Given the description of an element on the screen output the (x, y) to click on. 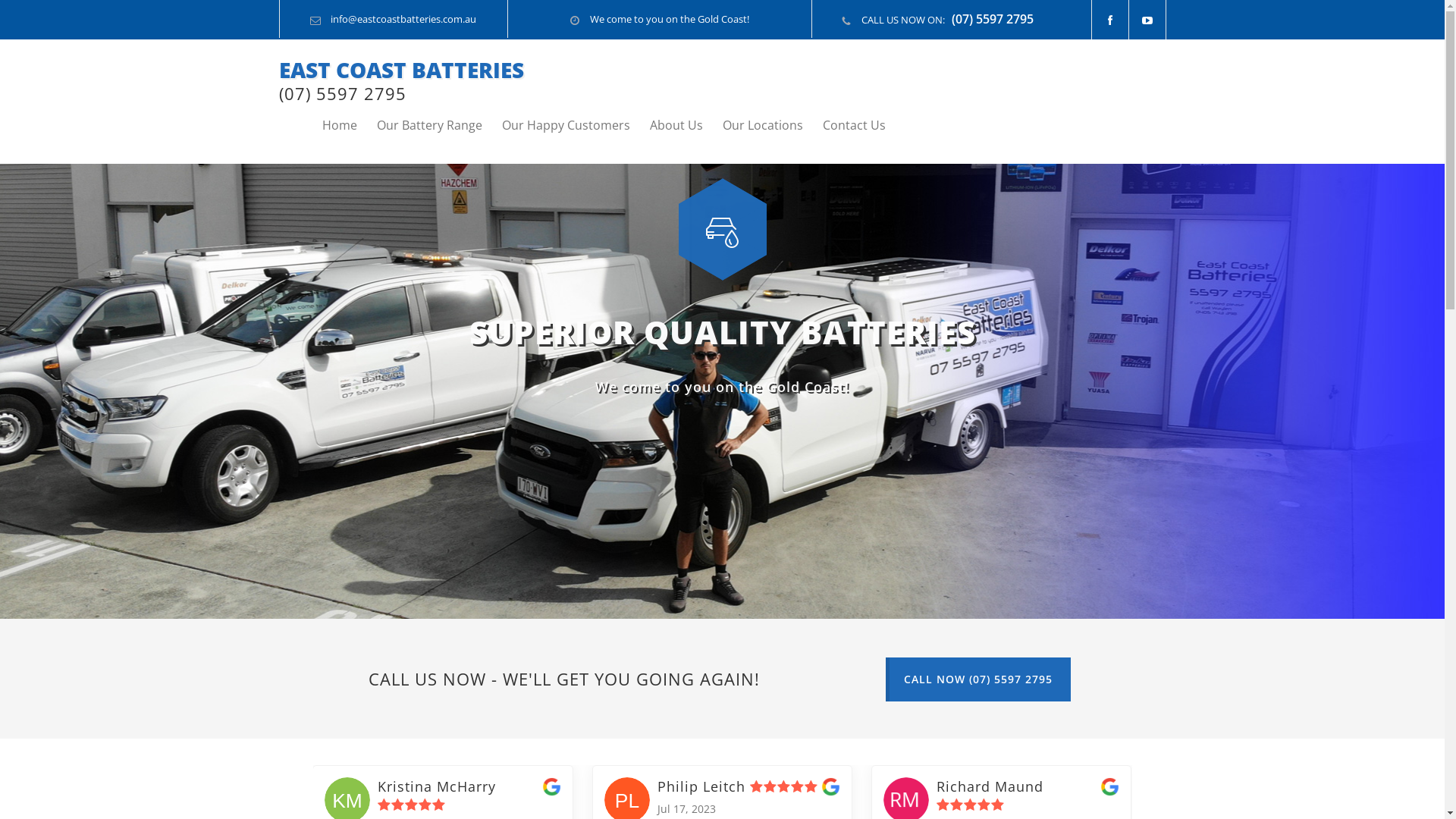
CALL NOW (07) 5597 2795 Element type: text (977, 678)
Home Element type: text (338, 125)
Our Locations Element type: text (752, 125)
EAST COAST BATTERIES Element type: text (401, 69)
About Us Element type: text (665, 125)
info@eastcoastbatteries.com.au Element type: text (403, 18)
facebook Element type: hover (1110, 19)
Our Happy Customers Element type: text (556, 125)
Contact Us Element type: text (843, 125)
Our Battery Range Element type: text (418, 125)
